Given the description of an element on the screen output the (x, y) to click on. 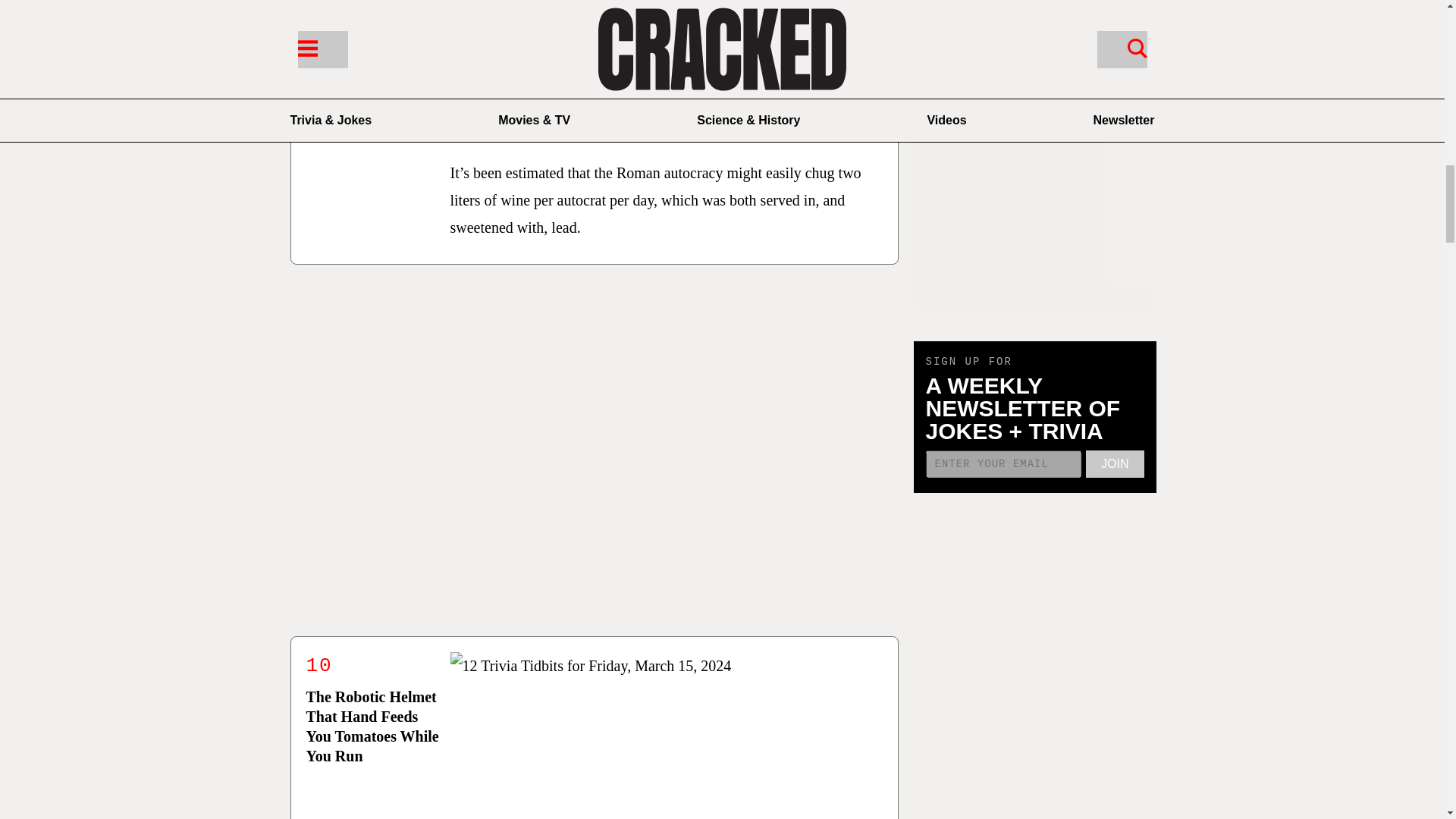
Source (666, 116)
